Given the description of an element on the screen output the (x, y) to click on. 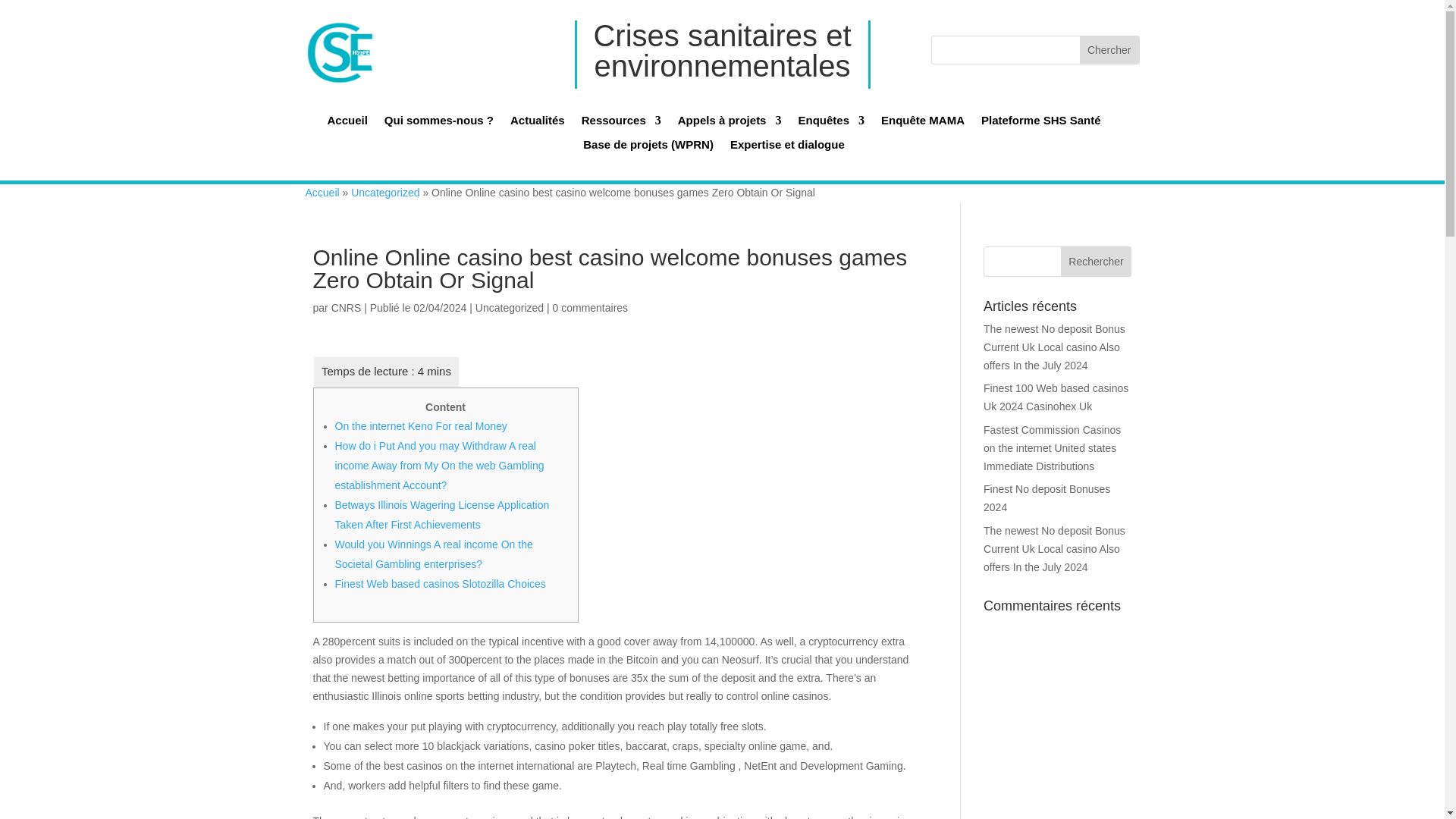
logoHS3PE copie (339, 52)
logoHS3PE copie (325, 39)
Qui sommes-nous ? (438, 124)
Chercher (1109, 34)
Accueil (346, 124)
Ressources (620, 124)
Chercher (1109, 49)
Expertise et dialogue (787, 148)
Rechercher (1096, 261)
Chercher (1109, 49)
Chercher (1109, 34)
Articles de CNRS (346, 307)
Chercher (1109, 49)
